Given the description of an element on the screen output the (x, y) to click on. 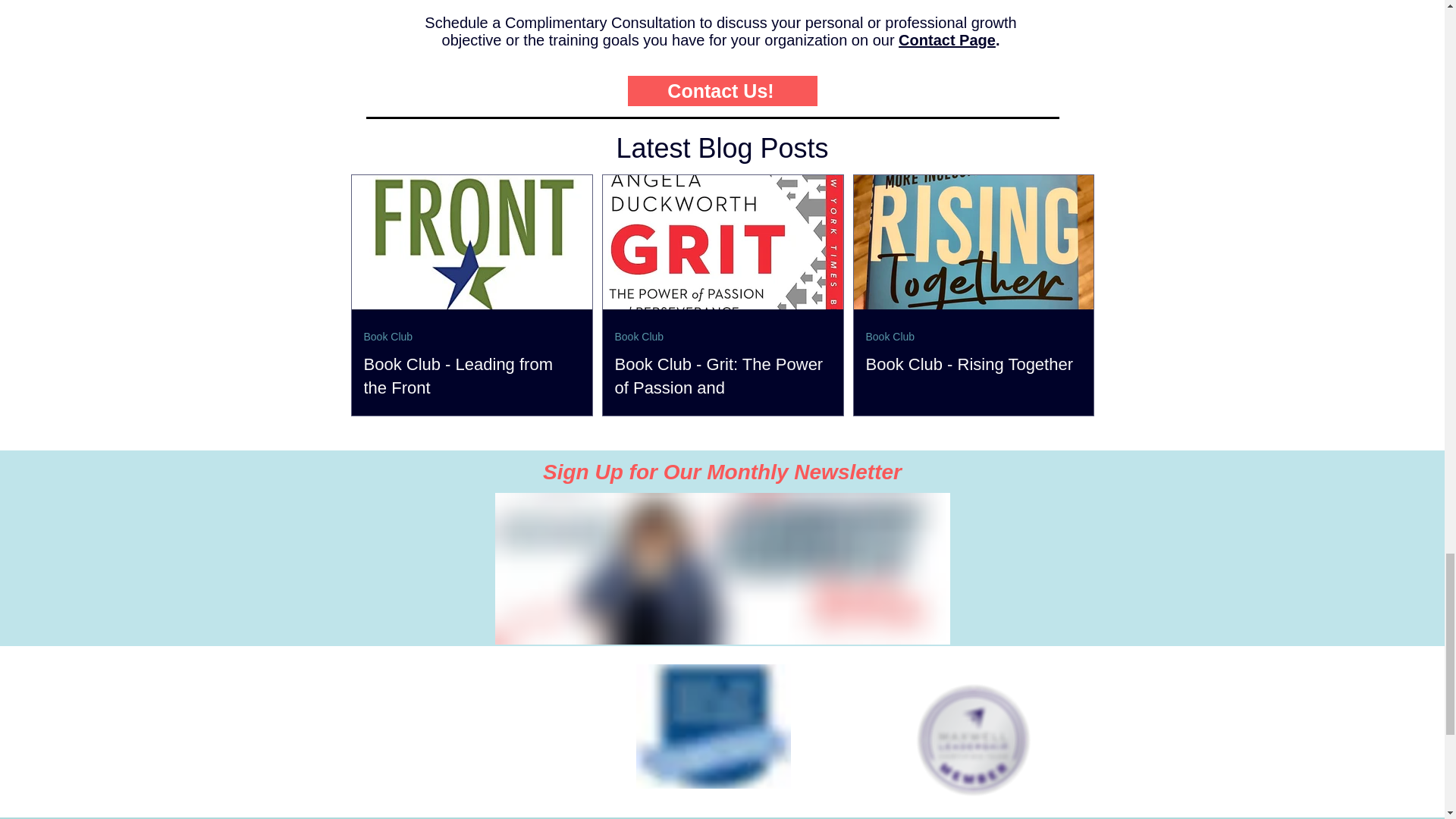
Book Club (638, 336)
Book Club (388, 336)
Contact Page (946, 39)
Contact Us! (721, 91)
Book Club (890, 336)
Book Club - Rising Together (973, 364)
Book Club - Leading from the Front (471, 376)
Book Club - Grit: The Power of Passion and Perseverance (721, 387)
